Given the description of an element on the screen output the (x, y) to click on. 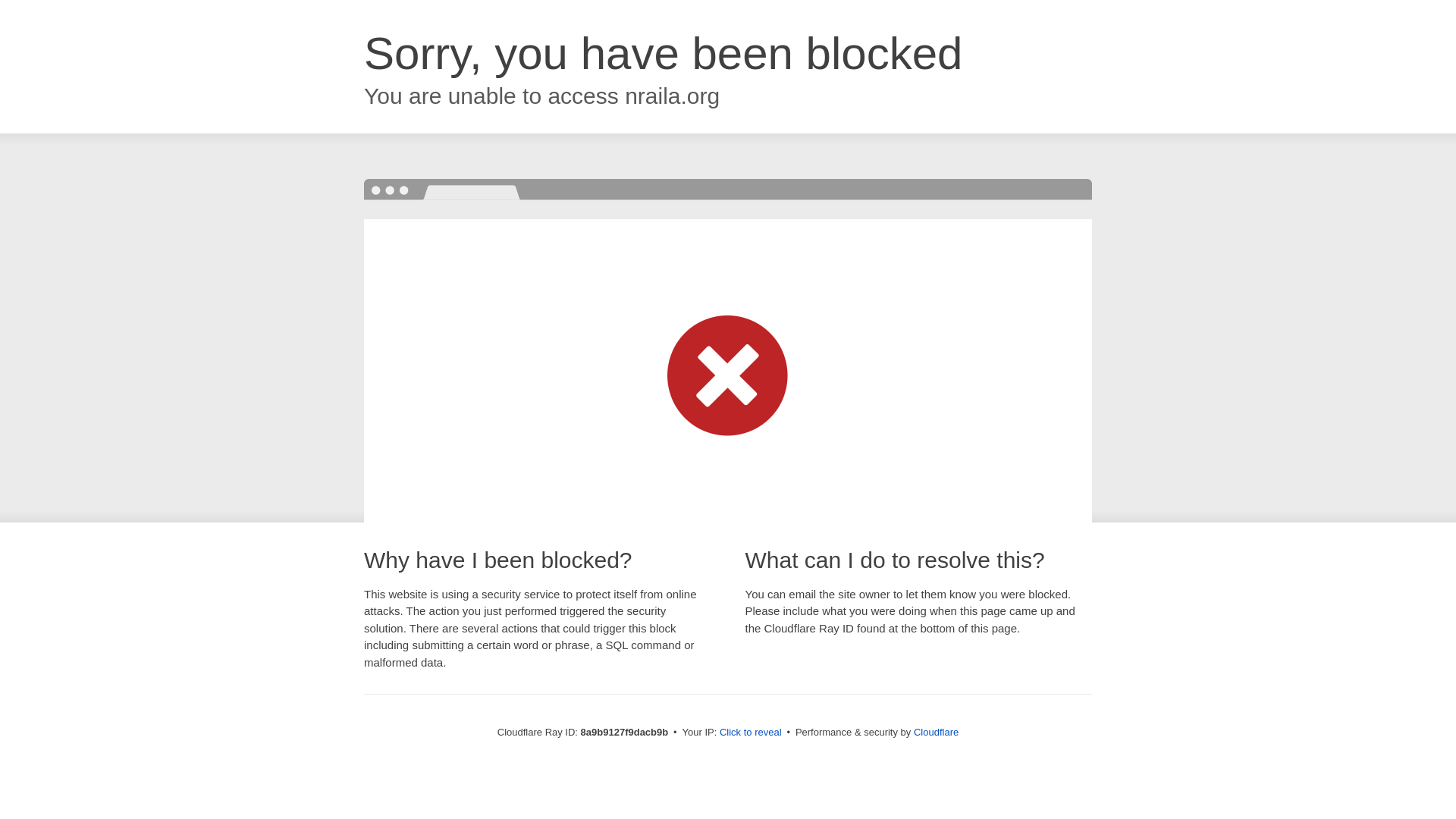
Click to reveal (750, 732)
Cloudflare (936, 731)
